Given the description of an element on the screen output the (x, y) to click on. 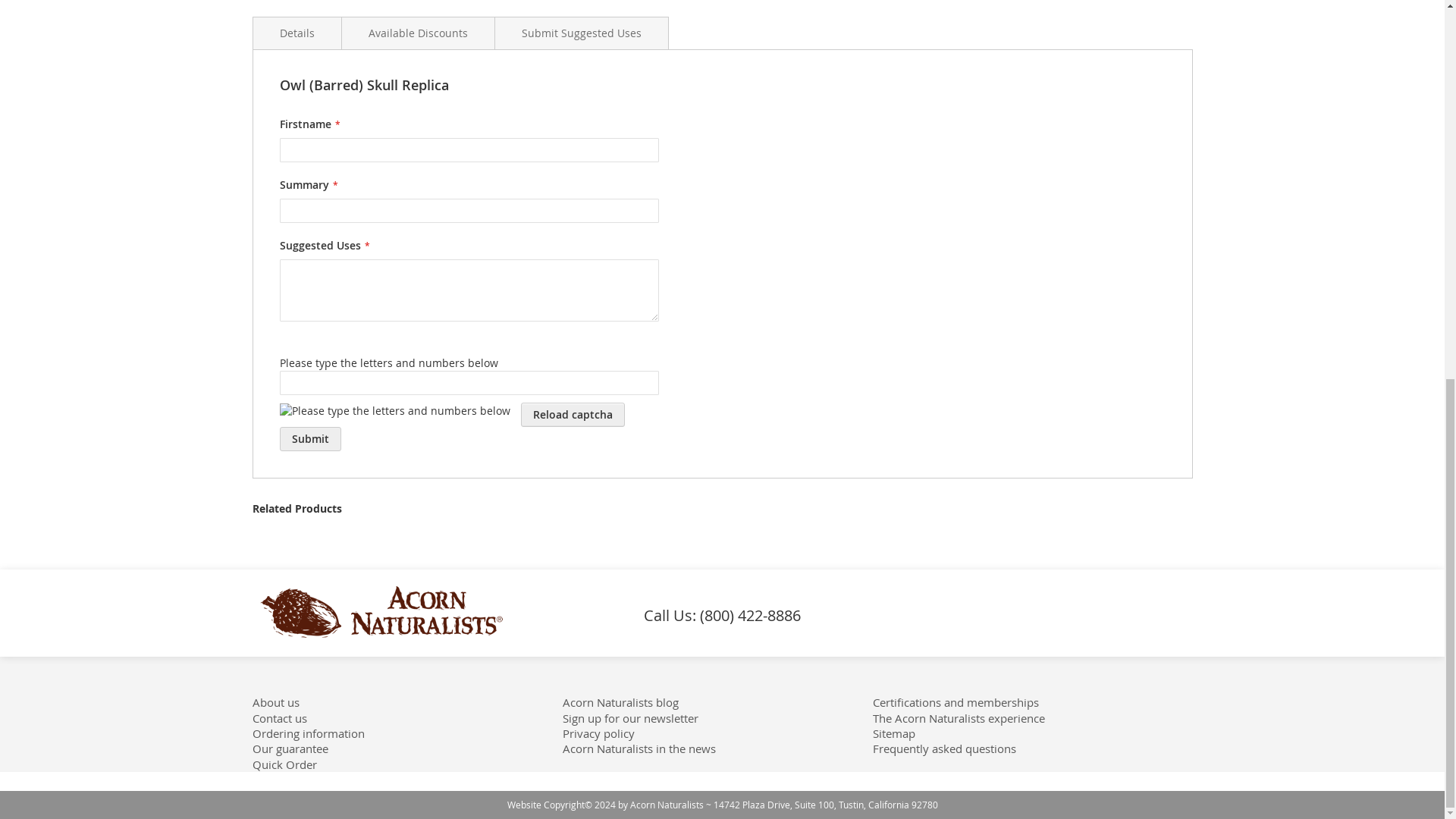
Details (295, 32)
Available Discounts (417, 32)
Reload captcha (571, 414)
